Given the description of an element on the screen output the (x, y) to click on. 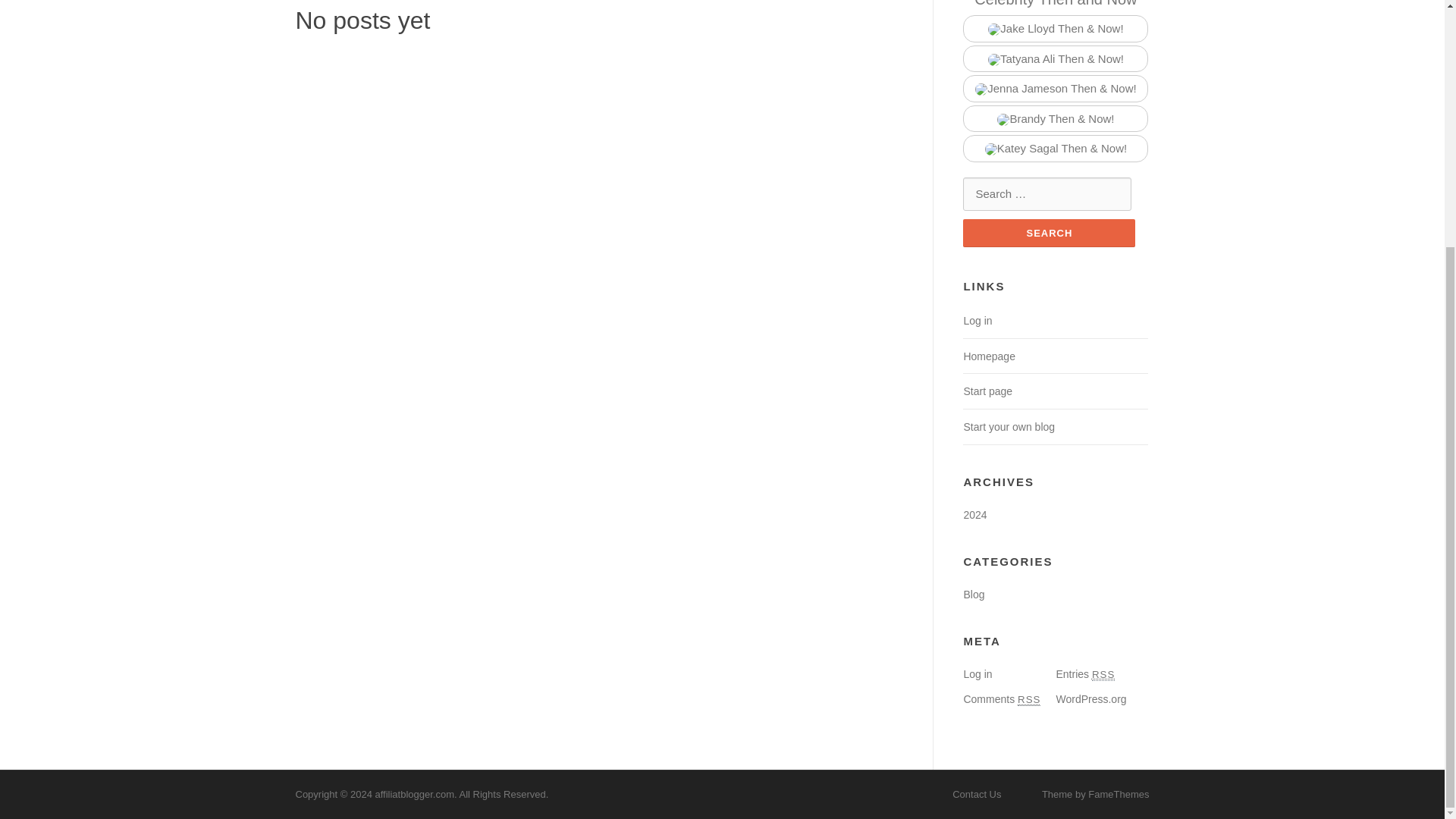
affiliatblogger.com (414, 794)
Really Simple Syndication (1029, 699)
Start your own blog (1008, 426)
Search (1048, 233)
Really Simple Syndication (1103, 674)
Homepage (988, 356)
Search (1048, 233)
Contact Us (976, 794)
Blog (973, 594)
WordPress.org (1090, 698)
Log in (976, 320)
Comments RSS (1001, 698)
Search (1048, 233)
2024 (974, 514)
